Given the description of an element on the screen output the (x, y) to click on. 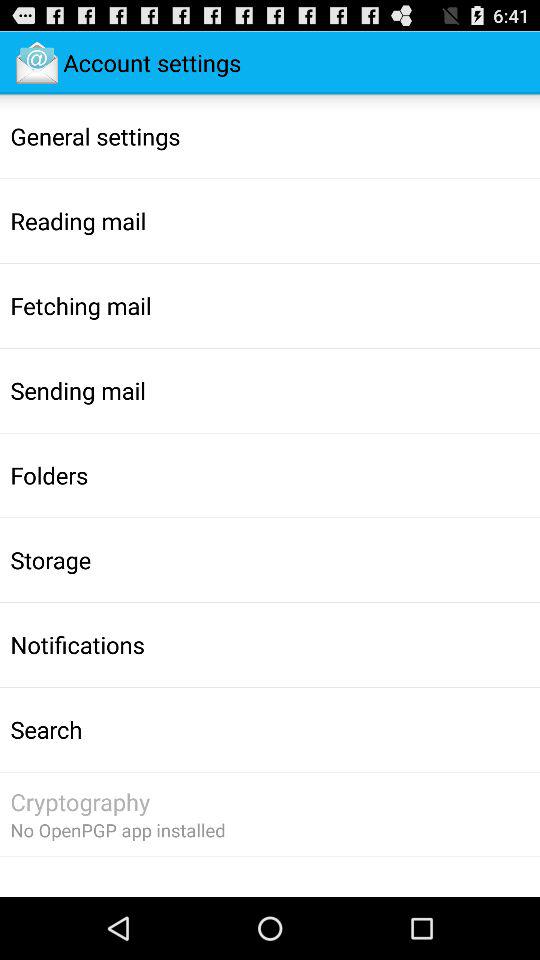
press the app below the fetching mail icon (77, 390)
